Given the description of an element on the screen output the (x, y) to click on. 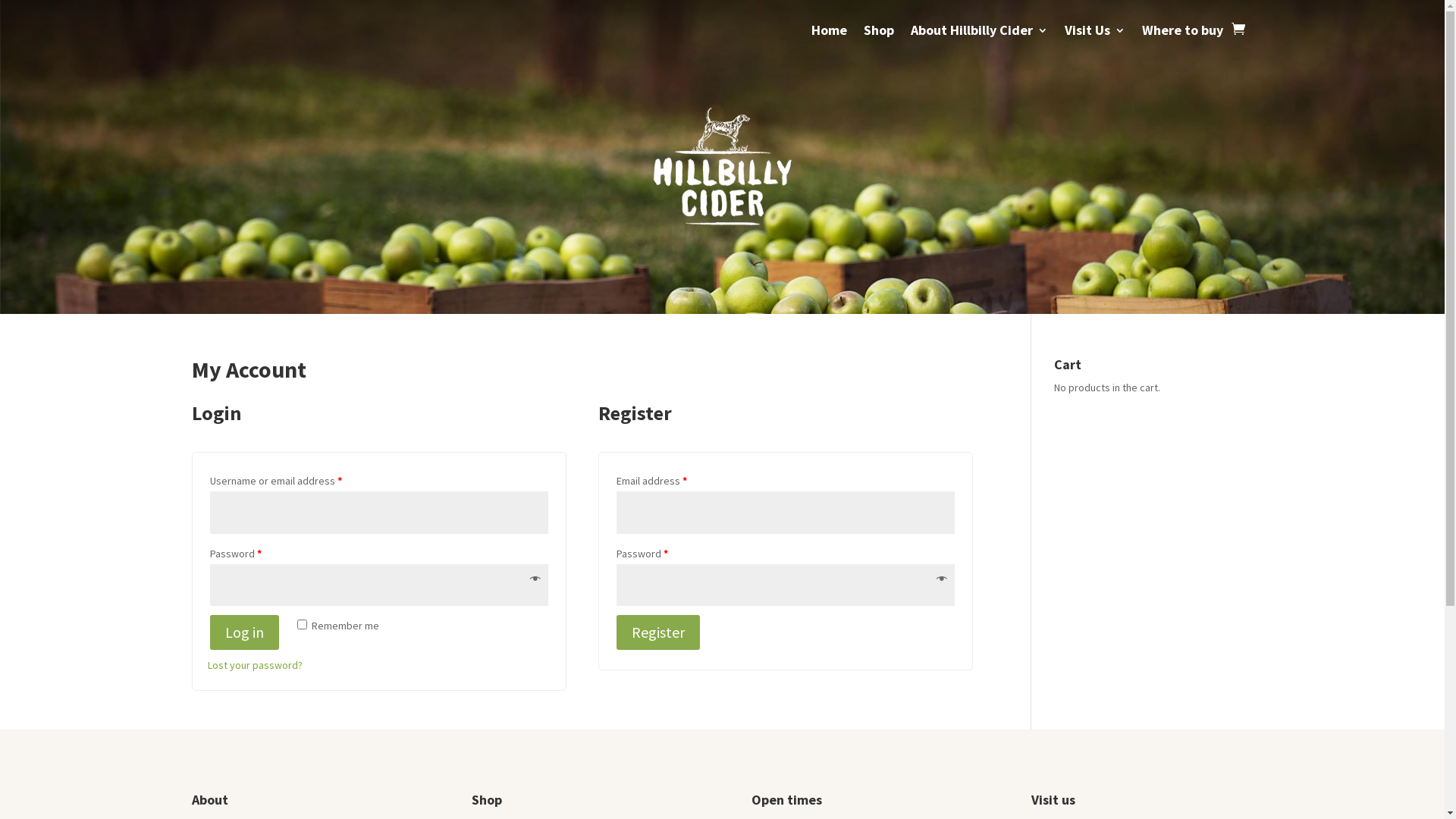
About Hillbilly Cider Element type: text (978, 41)
Register Element type: text (657, 632)
Shop Element type: text (877, 41)
Visit Us Element type: text (1094, 41)
Where to buy Element type: text (1182, 41)
Lost your password? Element type: text (254, 664)
Log in Element type: text (243, 632)
Home Element type: text (829, 41)
